Given the description of an element on the screen output the (x, y) to click on. 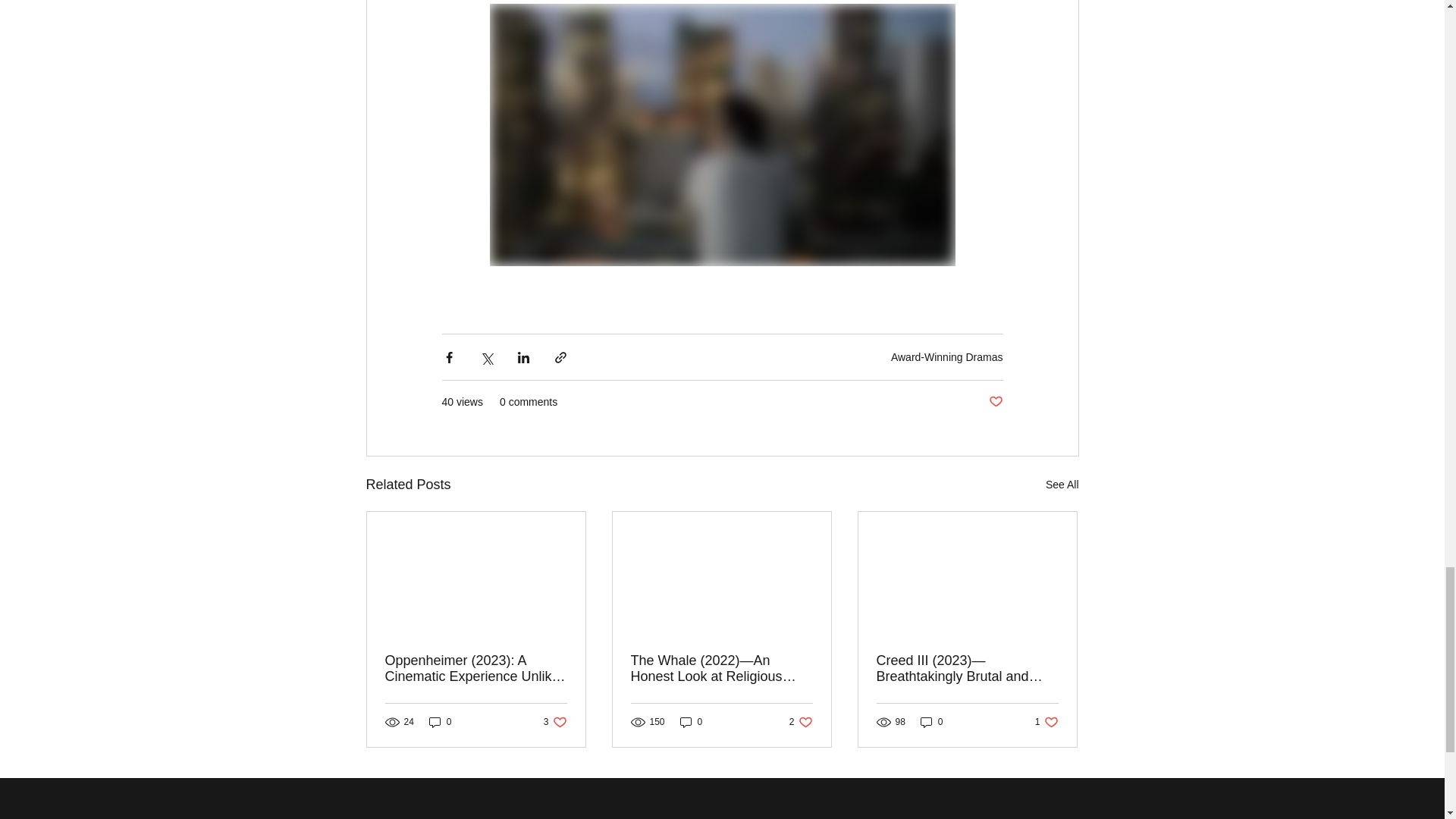
Post not marked as liked (995, 401)
0 (931, 721)
Award-Winning Dramas (947, 357)
0 (440, 721)
0 (800, 721)
See All (1046, 721)
